Given the description of an element on the screen output the (x, y) to click on. 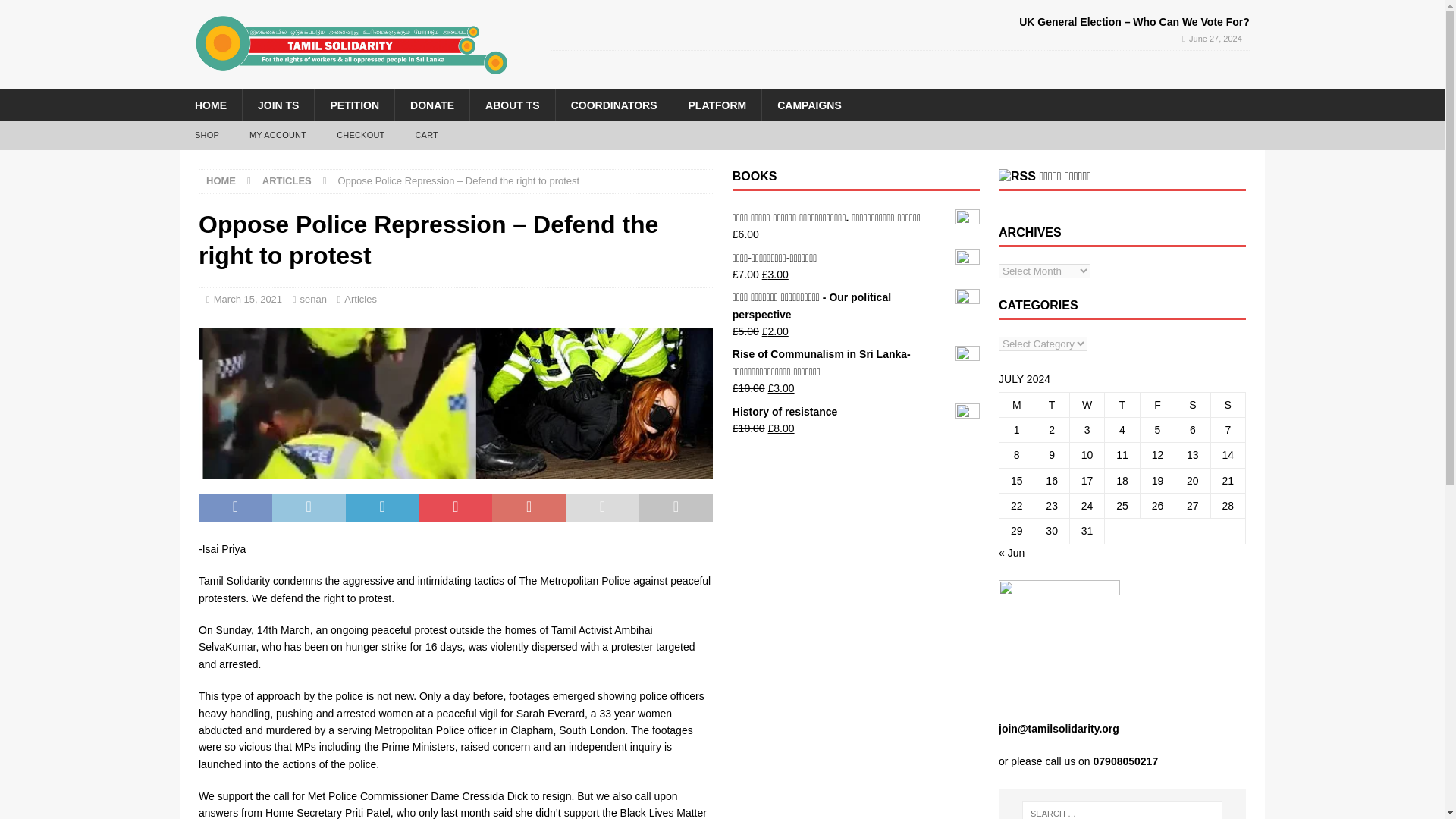
CHECKOUT (359, 135)
JOIN TS (277, 105)
ARTICLES (286, 180)
Articles (360, 298)
June 27, 2024 (1215, 38)
HOME (210, 105)
MY ACCOUNT (277, 135)
HOME (220, 180)
senan (312, 298)
Monday (1015, 404)
SHOP (206, 135)
ABOUT TS (511, 105)
DONATE (431, 105)
PETITION (354, 105)
PLATFORM (716, 105)
